Given the description of an element on the screen output the (x, y) to click on. 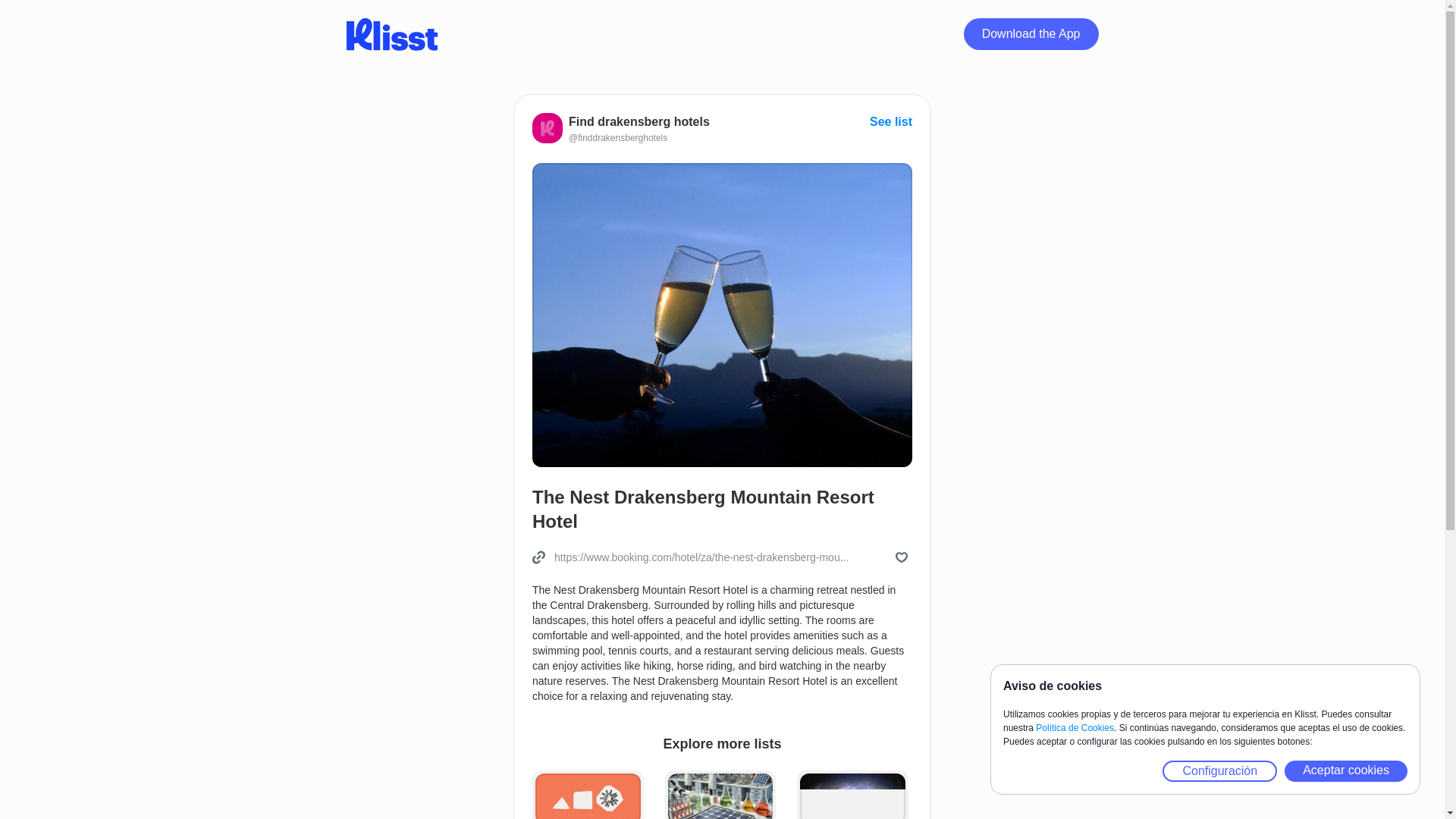
Turismo-Rutas-Excursiones-Viajes (587, 794)
See list (890, 122)
Ver la lista (890, 122)
Ver el perfil de Find drakensberg hotels (621, 137)
Aceptar cookies (1345, 771)
Download the App (1031, 33)
